Given the description of an element on the screen output the (x, y) to click on. 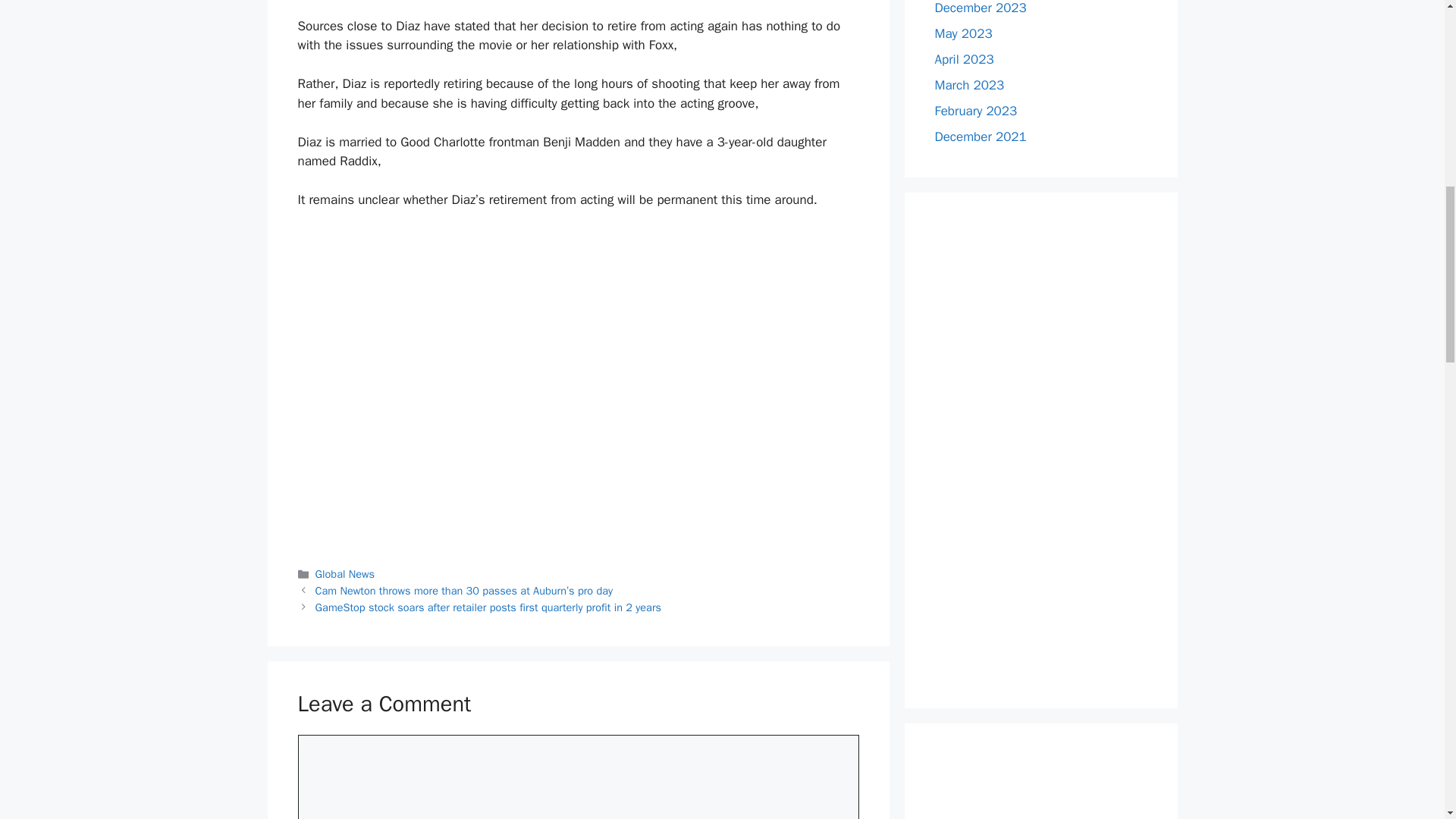
May 2023 (962, 33)
December 2021 (980, 136)
December 2023 (980, 7)
April 2023 (963, 59)
March 2023 (969, 84)
Global News (344, 573)
February 2023 (975, 110)
Advertisement (1040, 786)
